Given the description of an element on the screen output the (x, y) to click on. 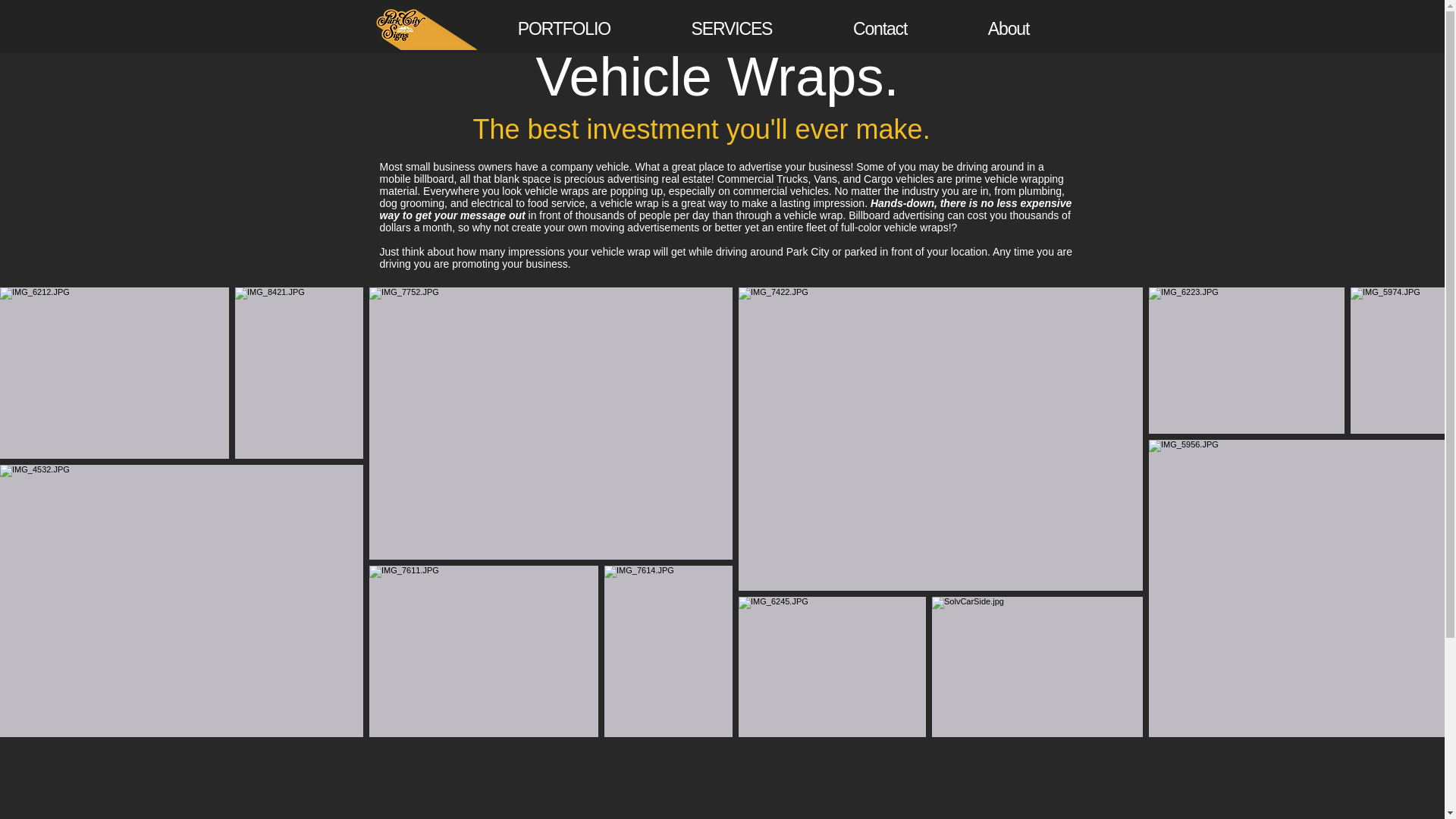
SERVICES (731, 28)
PORTFOLIO (563, 28)
About (1007, 28)
Contact (879, 28)
